Given the description of an element on the screen output the (x, y) to click on. 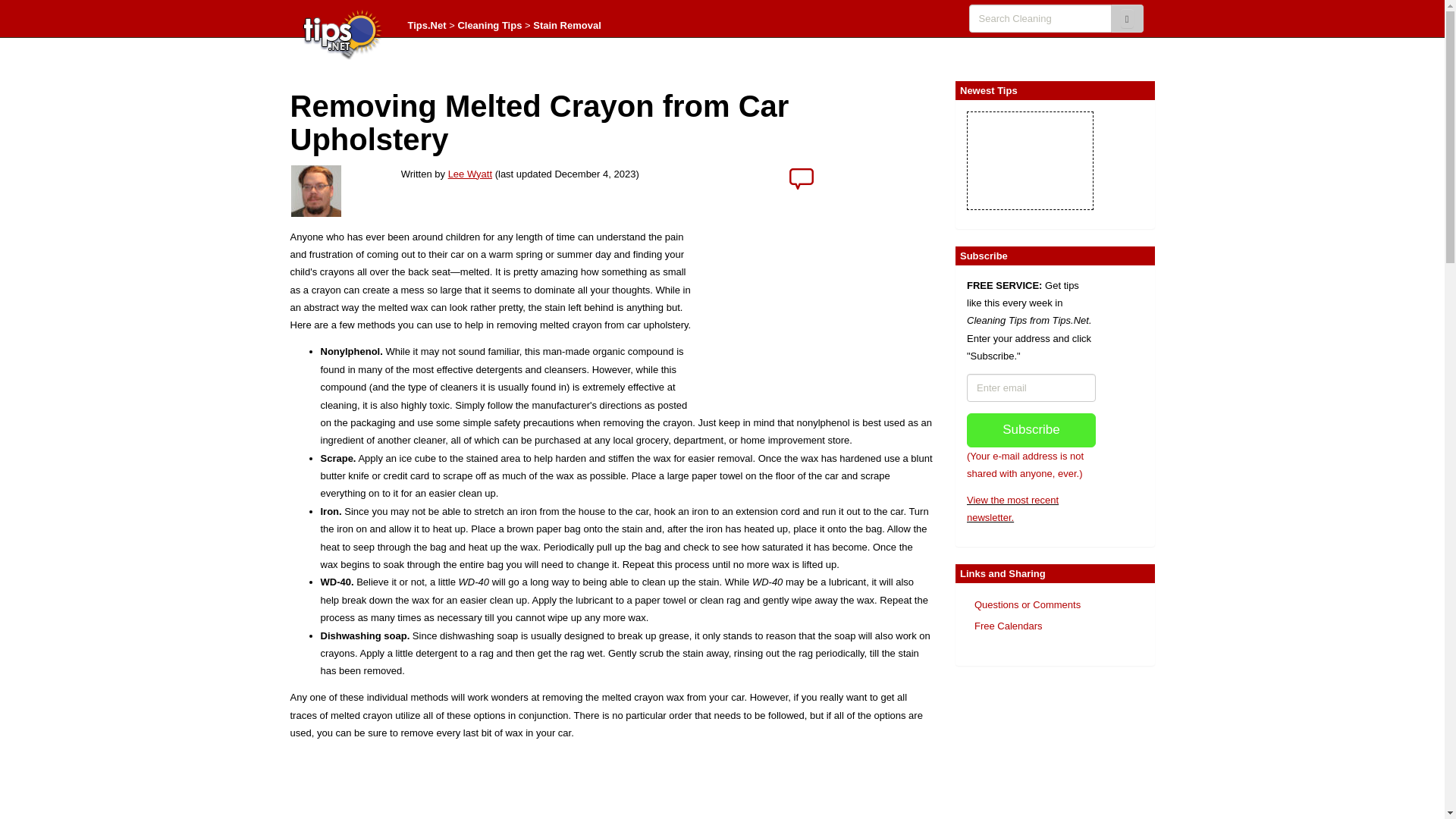
Stain Removal (566, 25)
Subscribe (1031, 430)
Free Calendars (1008, 625)
Cleaning Tips (489, 25)
Advertisement (611, 785)
Advertisement (1031, 751)
Questions or Comments (1027, 604)
Lee Wyatt (470, 173)
Tips.Net (426, 25)
View the most recent newsletter. (1012, 508)
